Given the description of an element on the screen output the (x, y) to click on. 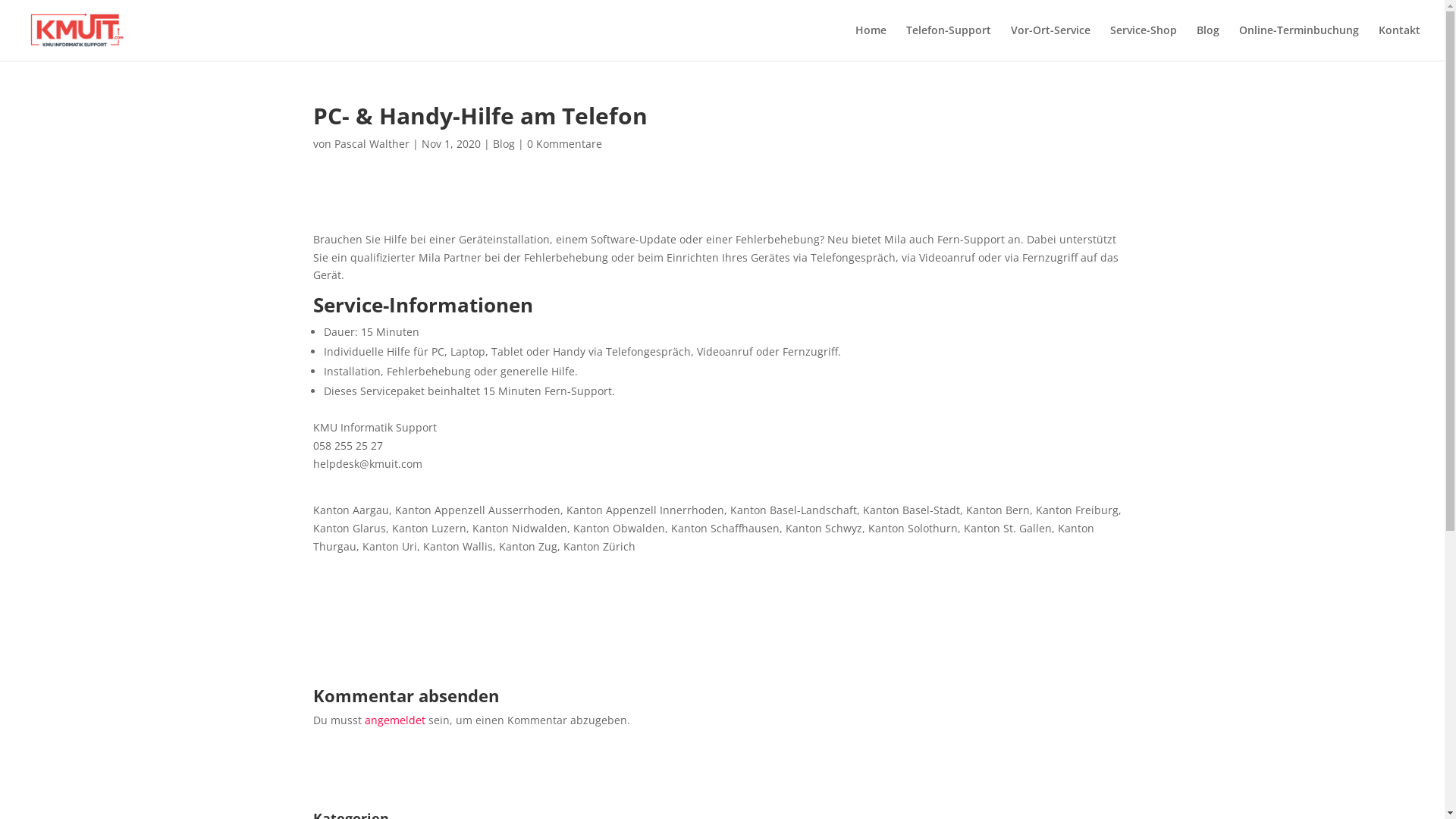
Telefon-Support Element type: text (948, 42)
Blog Element type: text (503, 143)
Service-Shop Element type: text (1143, 42)
0 Kommentare Element type: text (563, 143)
Pascal Walther Element type: text (370, 143)
Kontakt Element type: text (1399, 42)
Vor-Ort-Service Element type: text (1050, 42)
Online-Terminbuchung Element type: text (1298, 42)
Blog Element type: text (1207, 42)
angemeldet Element type: text (394, 719)
Home Element type: text (870, 42)
